Given the description of an element on the screen output the (x, y) to click on. 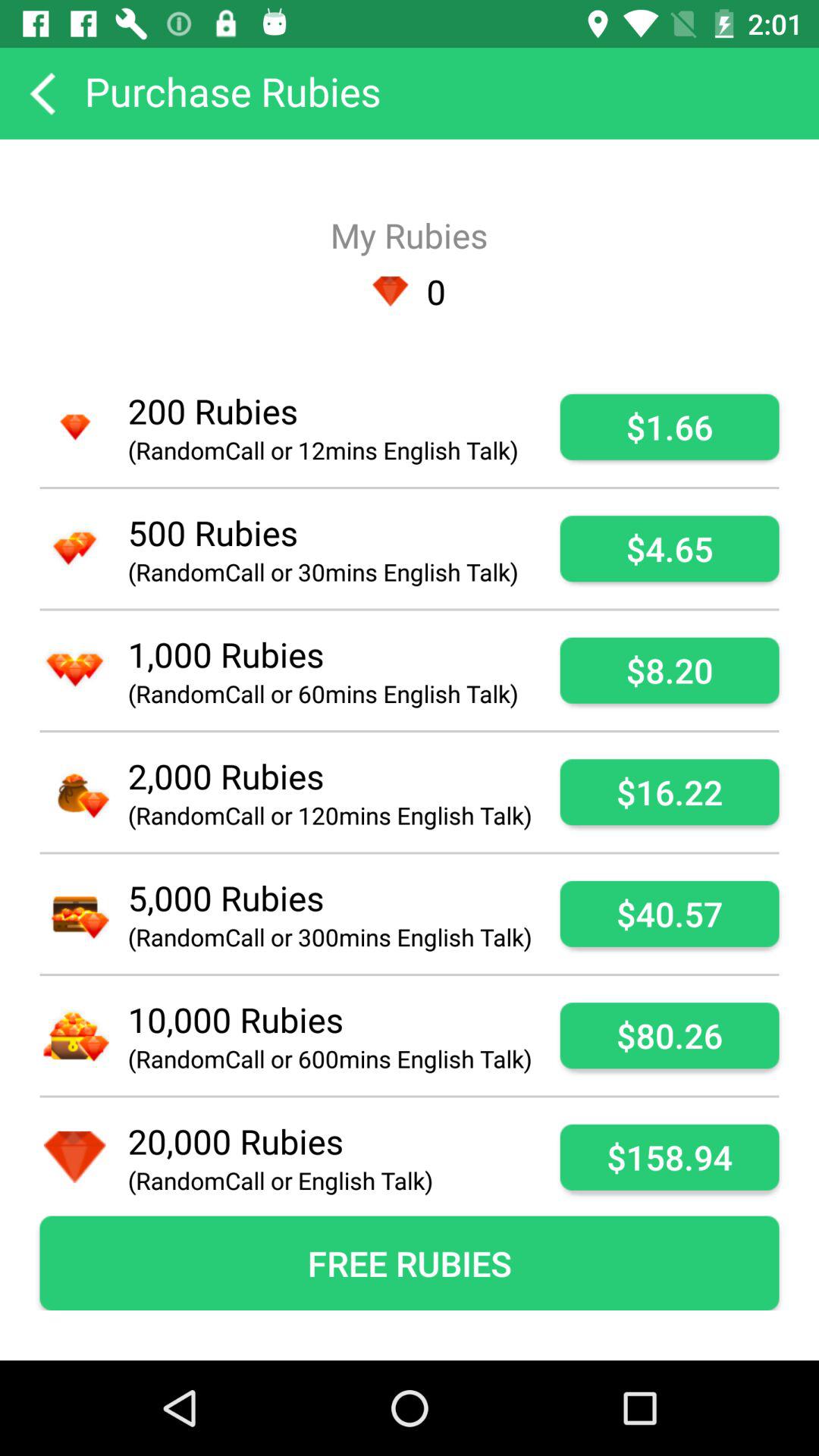
jump until $4.65 (669, 548)
